Given the description of an element on the screen output the (x, y) to click on. 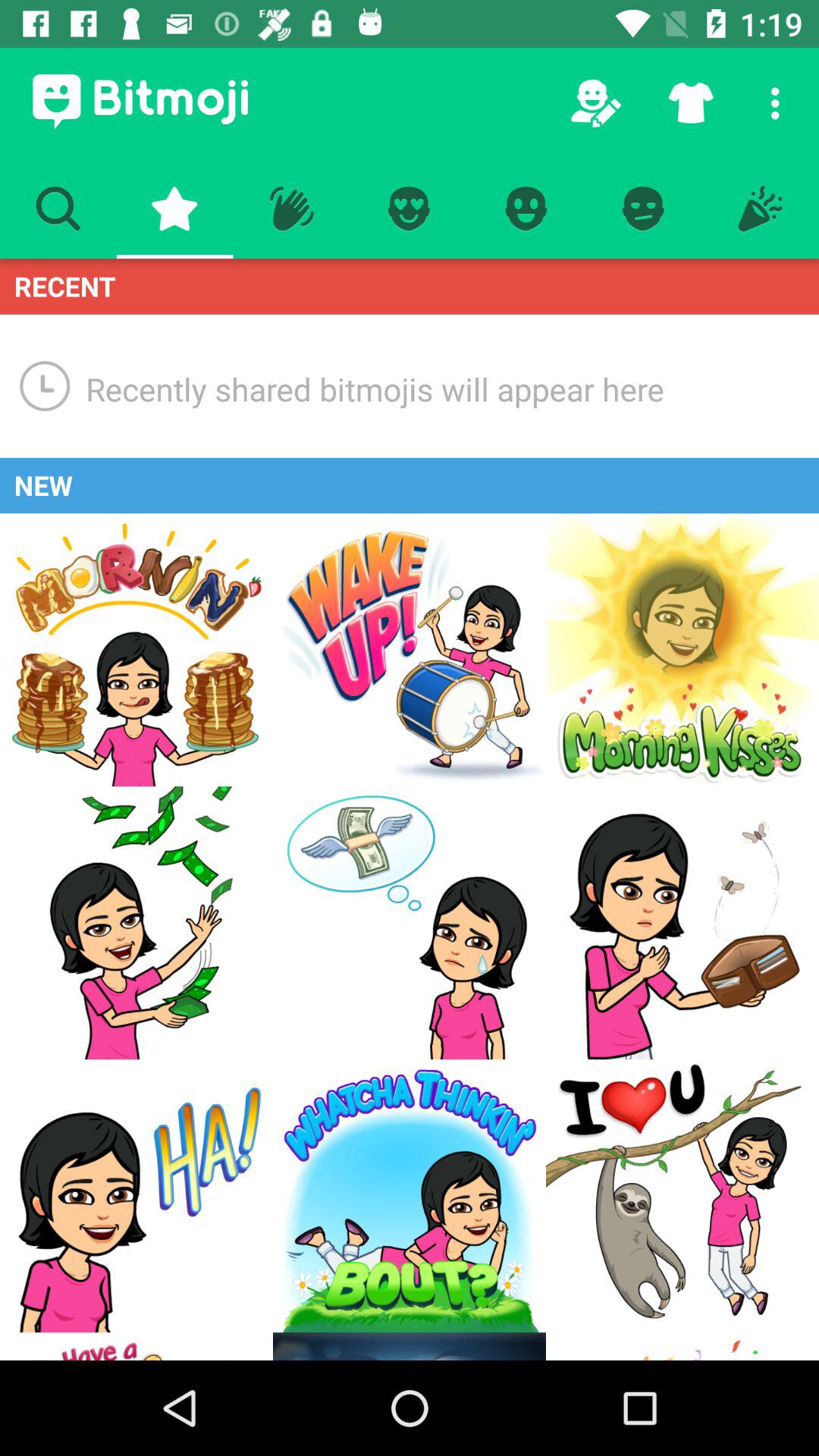
see image (409, 922)
